Given the description of an element on the screen output the (x, y) to click on. 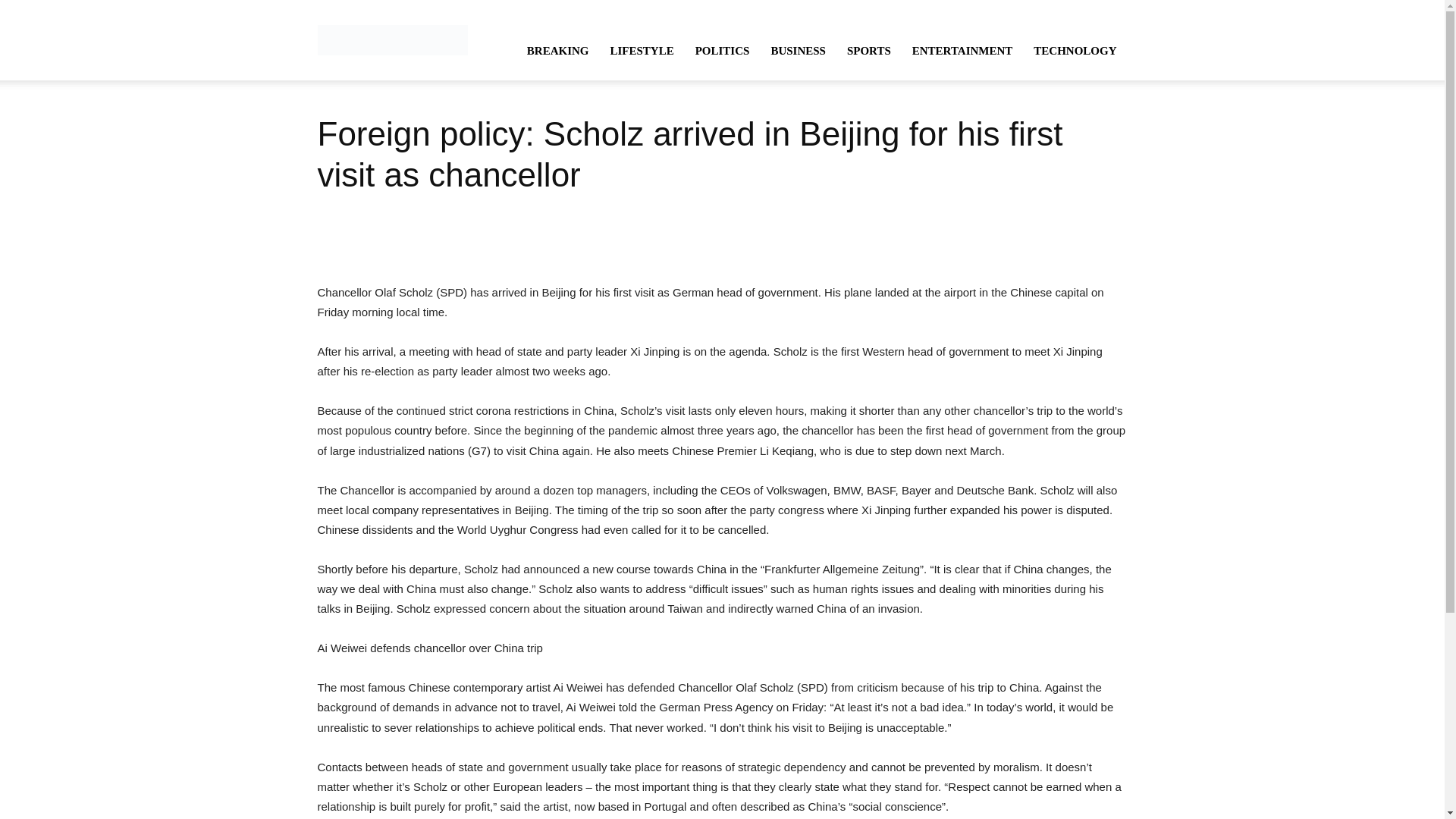
ENTERTAINMENT (962, 50)
SPORTS (868, 50)
LIFESTYLE (641, 50)
Indo Newyork (392, 39)
BREAKING (557, 50)
TECHNOLOGY (1074, 50)
POLITICS (722, 50)
BUSINESS (797, 50)
